Given the description of an element on the screen output the (x, y) to click on. 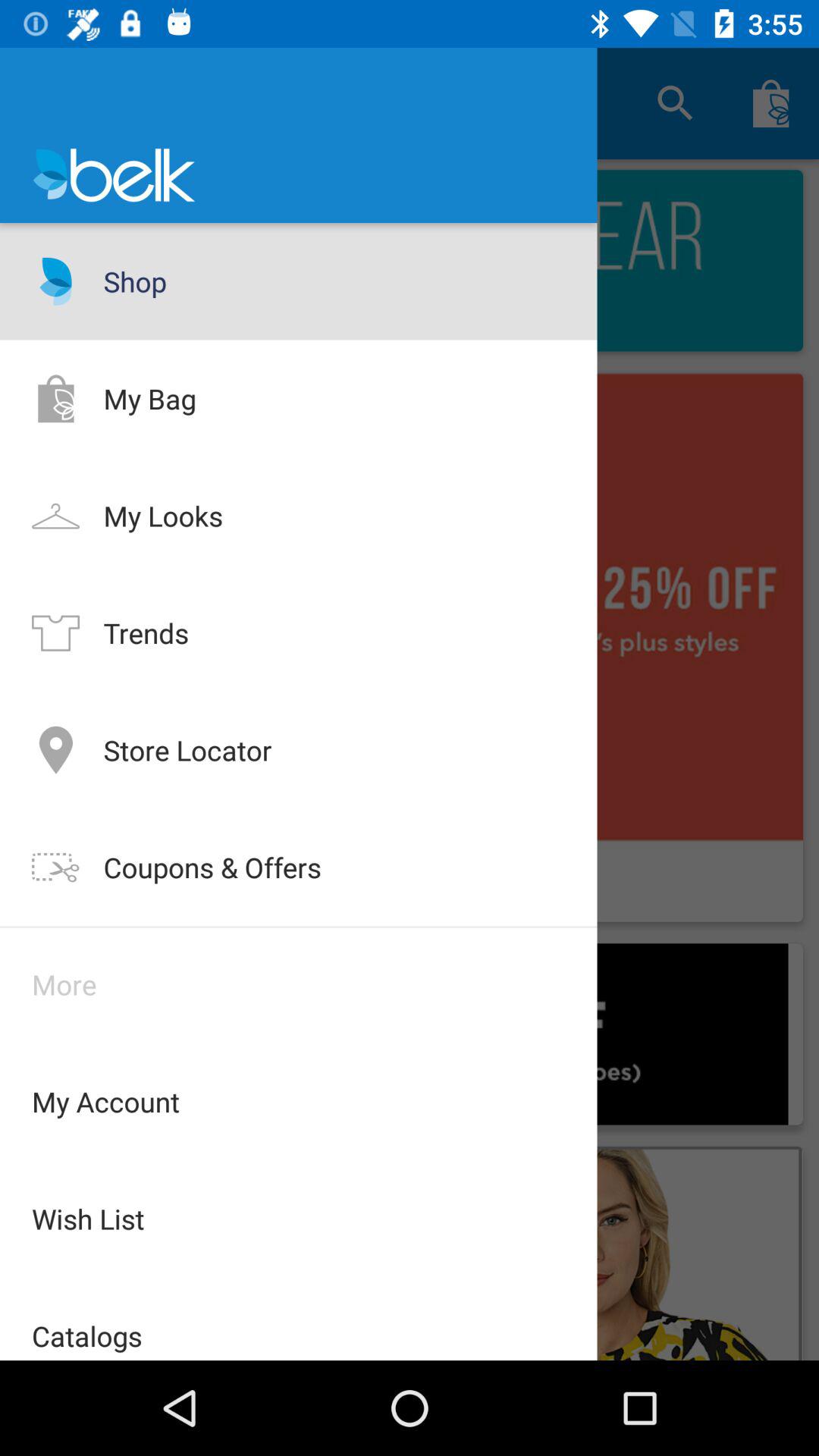
go to the trends icon (55, 632)
select the icon to the left of my bag (55, 398)
